Given the description of an element on the screen output the (x, y) to click on. 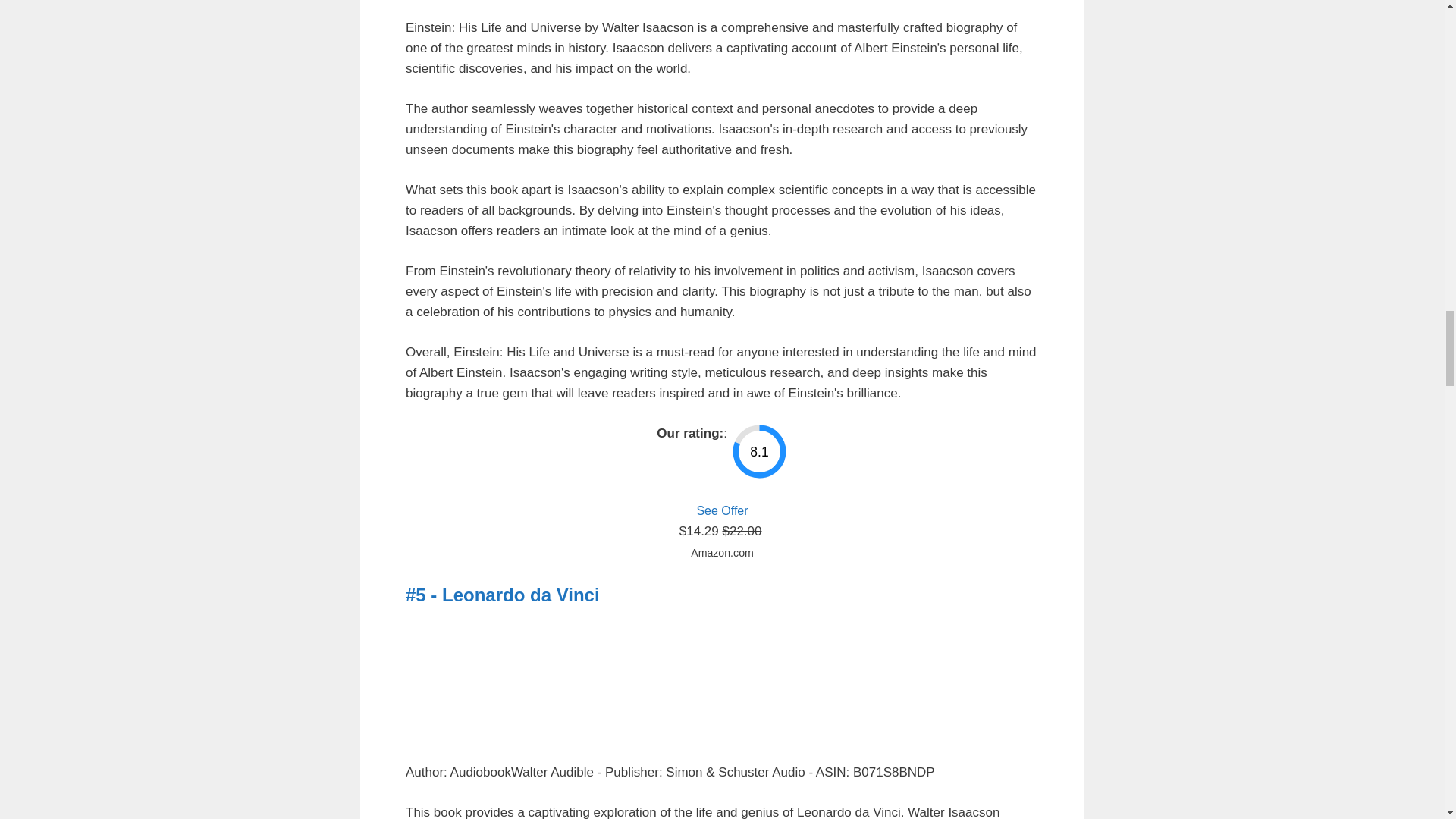
See Offer (721, 510)
8.1 (758, 451)
